Given the description of an element on the screen output the (x, y) to click on. 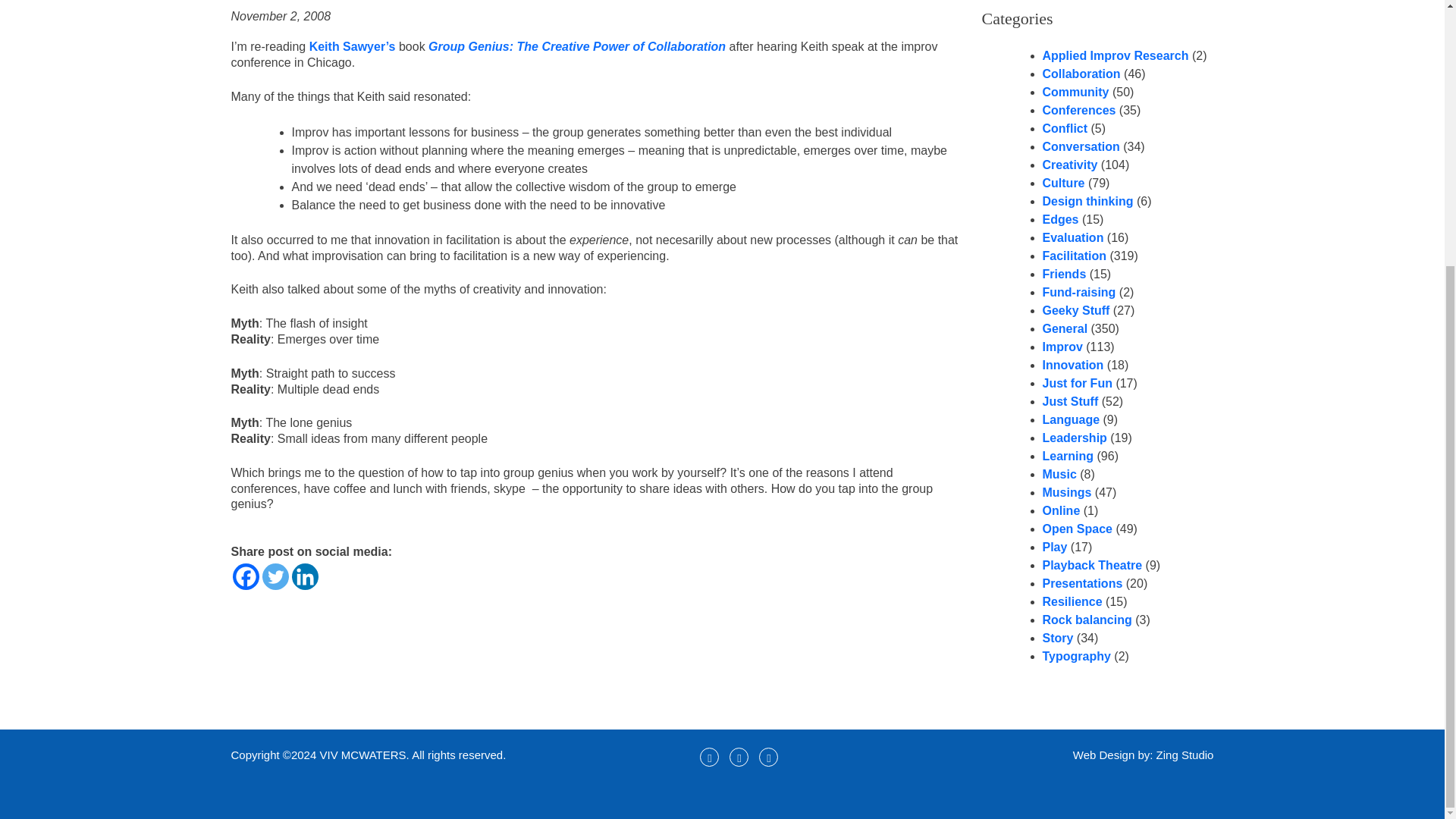
Conferences (1078, 110)
Fund-raising (1078, 291)
Friends (1064, 273)
Facilitation (1073, 255)
Group Genius: The Creative Power of Collaboration (576, 46)
Culture (1063, 182)
Collaboration (1080, 73)
Linkedin (304, 576)
Applied Improv Research (1115, 55)
Design thinking (1087, 201)
Creativity (1069, 164)
Community (1075, 91)
Facebook (245, 576)
Edges (1060, 219)
General (1064, 328)
